Given the description of an element on the screen output the (x, y) to click on. 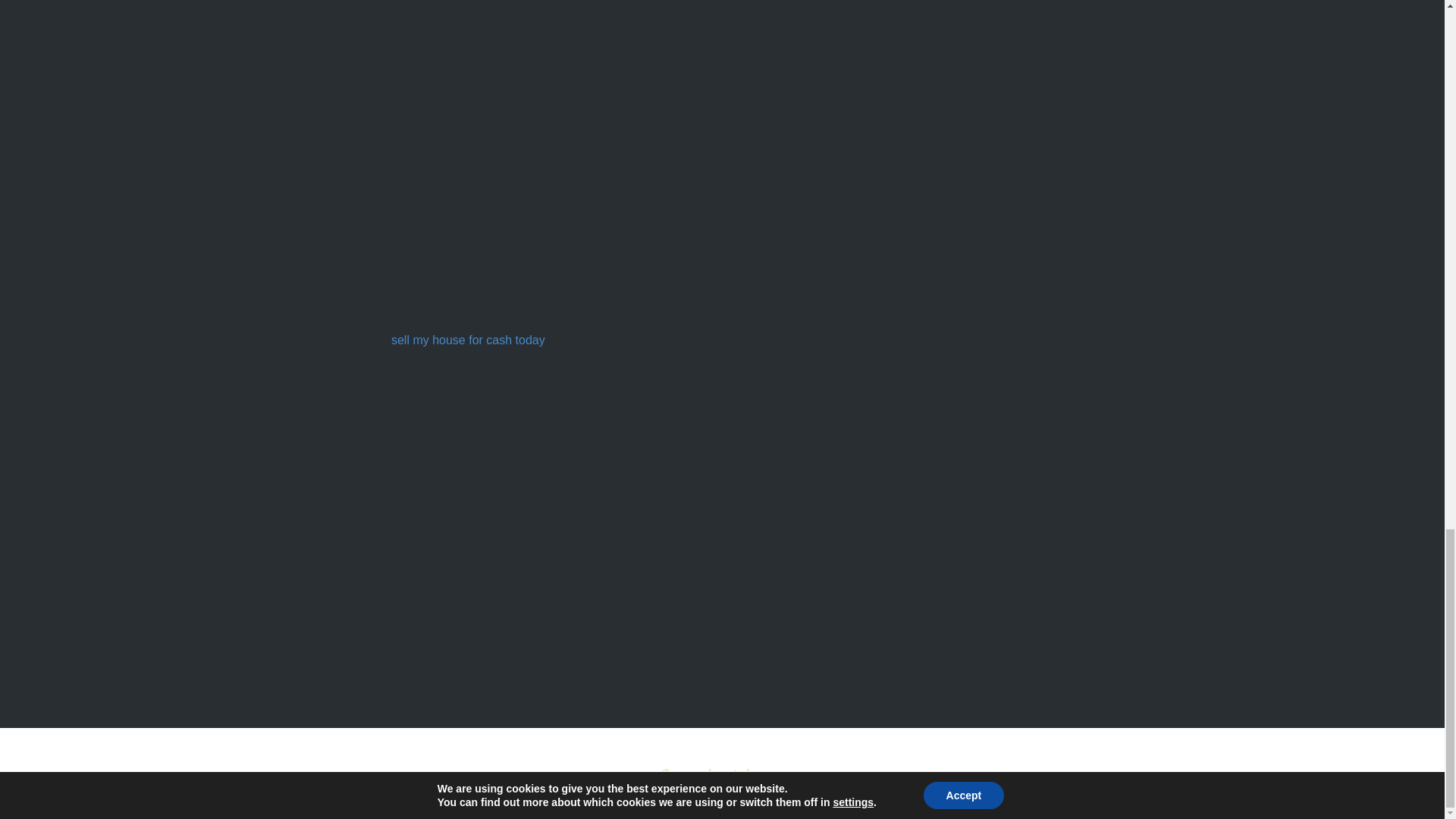
sell my house for cash today (467, 339)
